Given the description of an element on the screen output the (x, y) to click on. 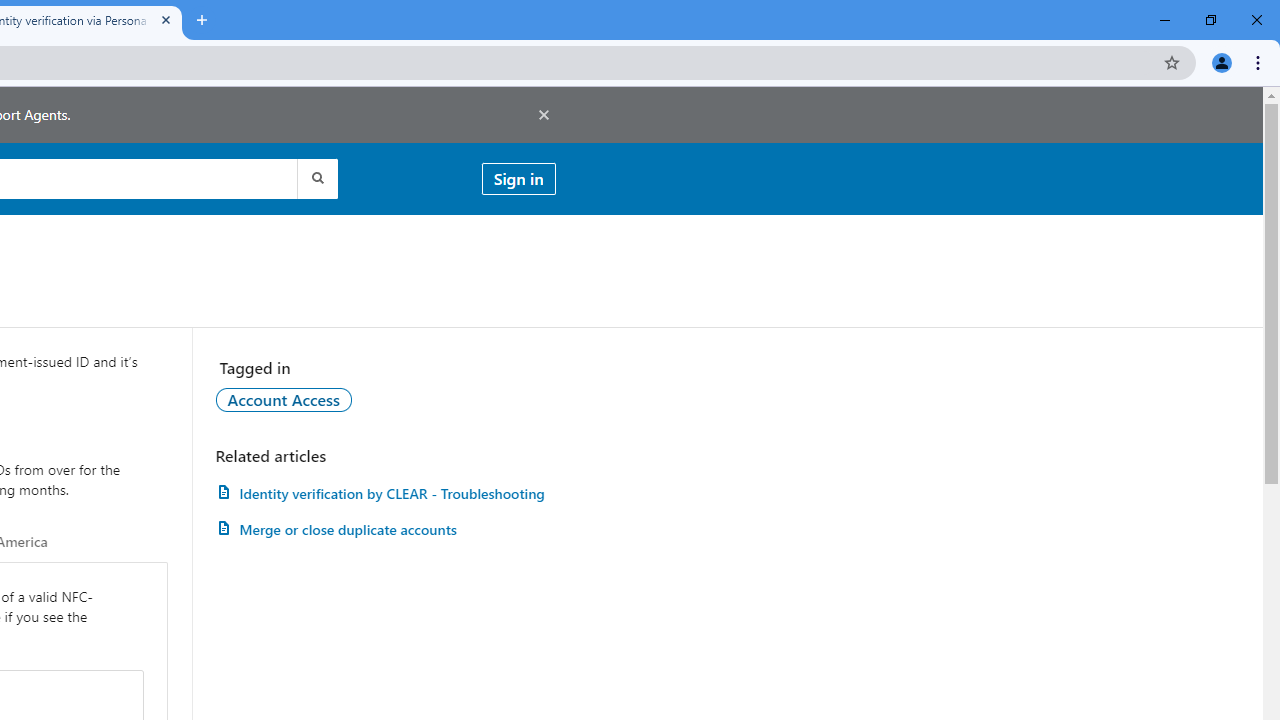
AutomationID: article-link-a1337200 (385, 529)
